Given the description of an element on the screen output the (x, y) to click on. 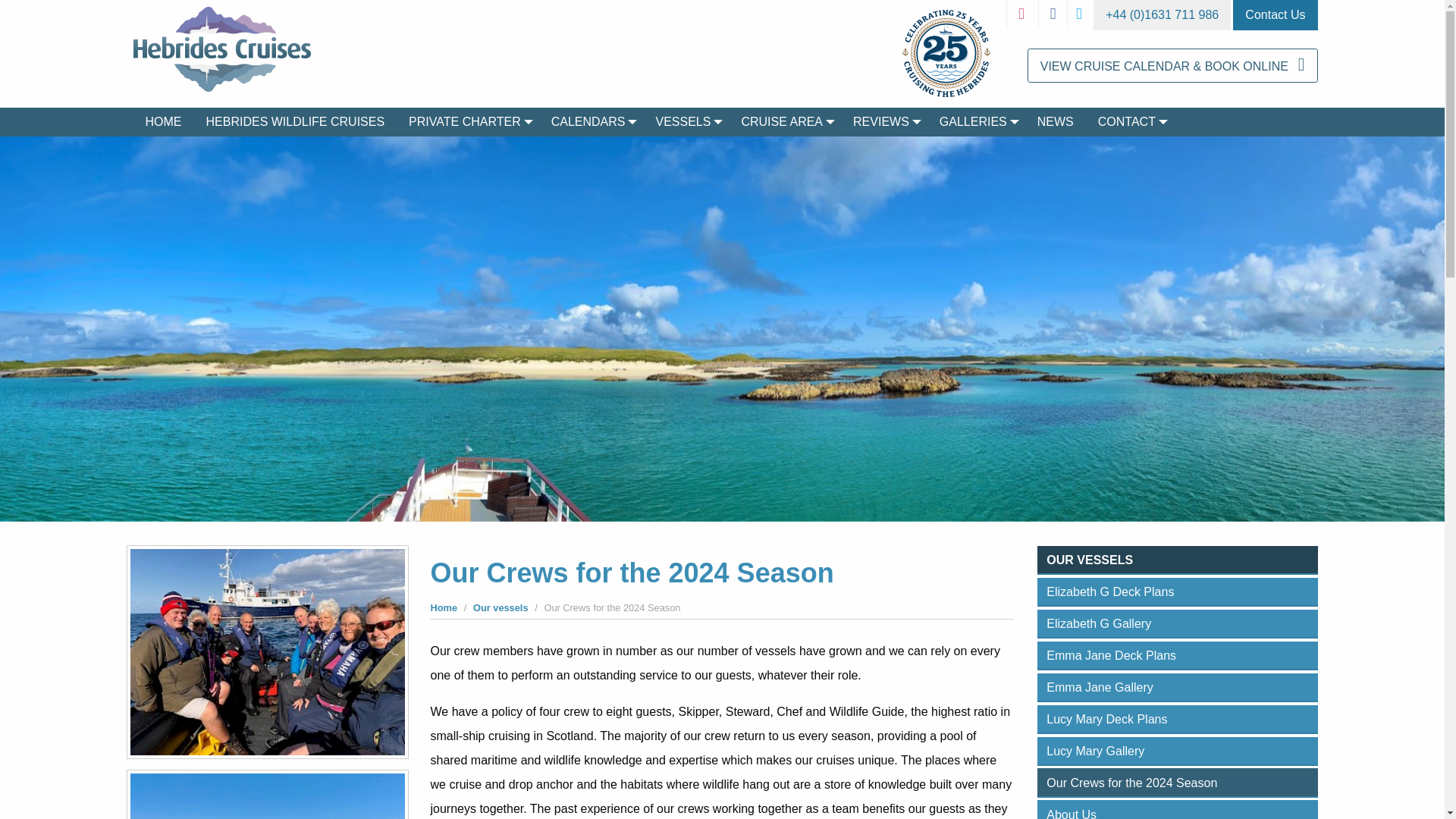
CALENDARS (590, 121)
HEBRIDES WILDLIFE CRUISES (295, 121)
HOME (163, 121)
VESSELS (686, 121)
Contact Us (1275, 15)
CRUISE AREA (785, 121)
PRIVATE CHARTER (467, 121)
